Given the description of an element on the screen output the (x, y) to click on. 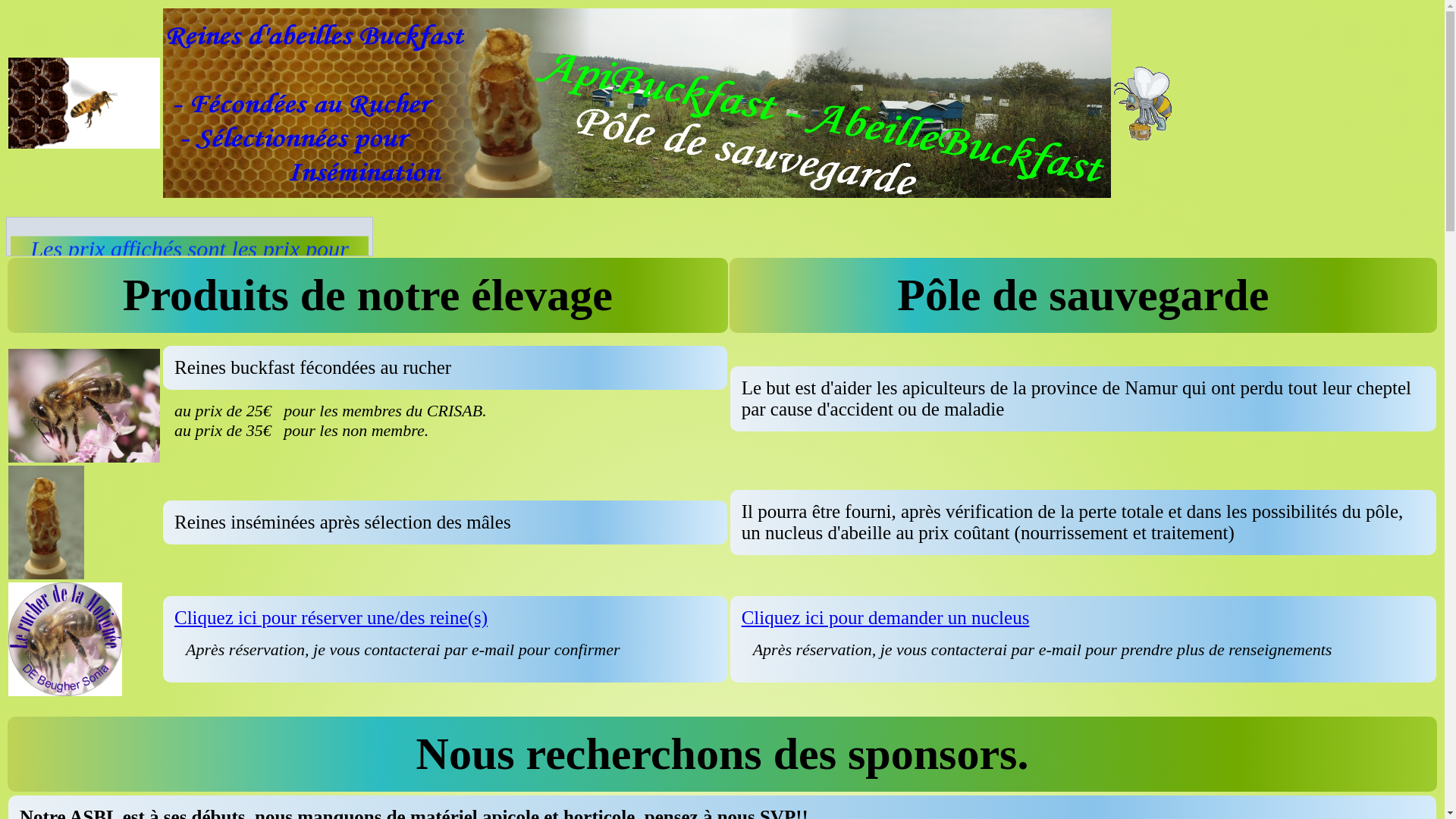
Cliquez ici pour demander un nucleus Element type: text (885, 617)
